Given the description of an element on the screen output the (x, y) to click on. 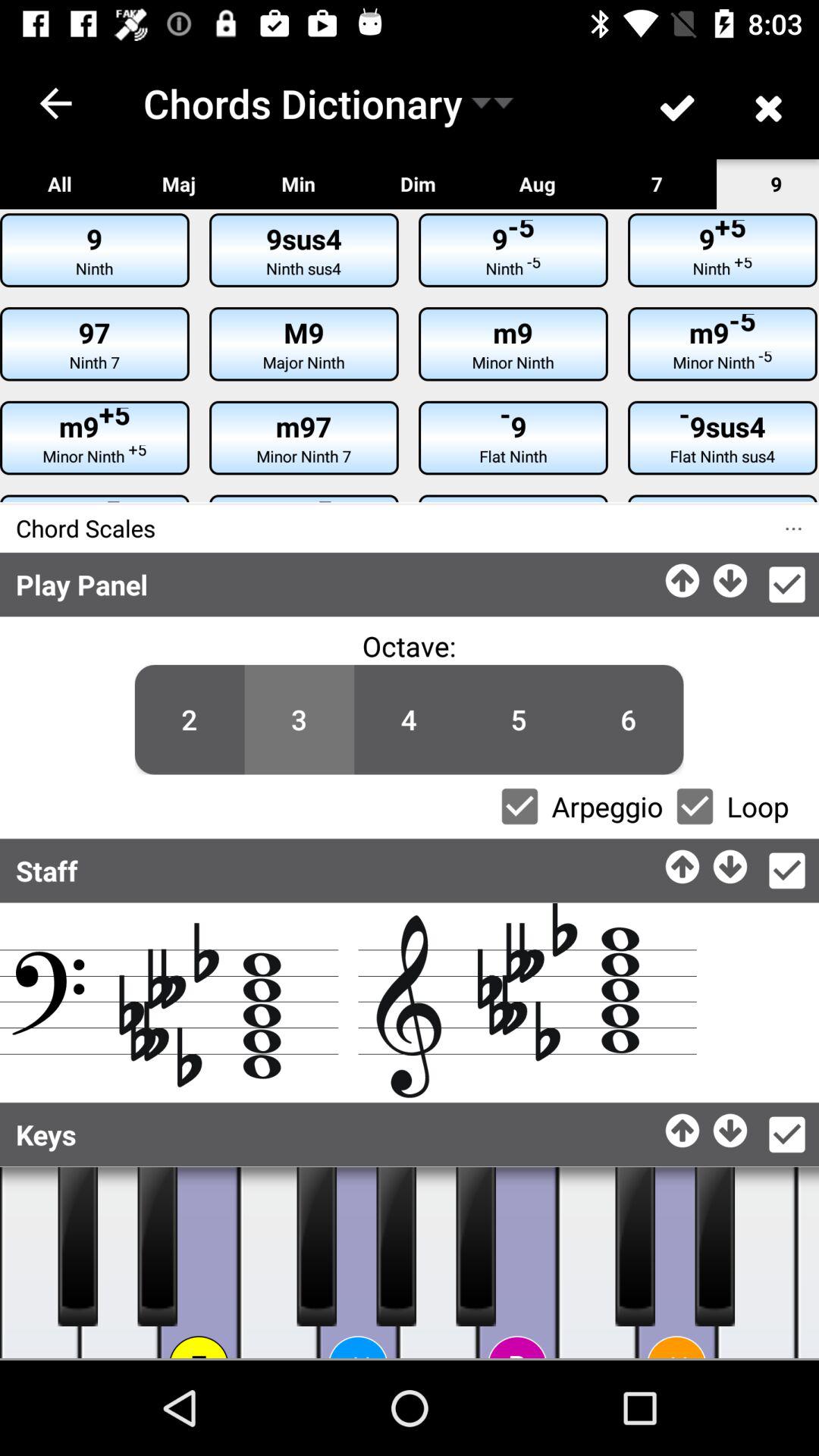
piano white key (807, 1262)
